Given the description of an element on the screen output the (x, y) to click on. 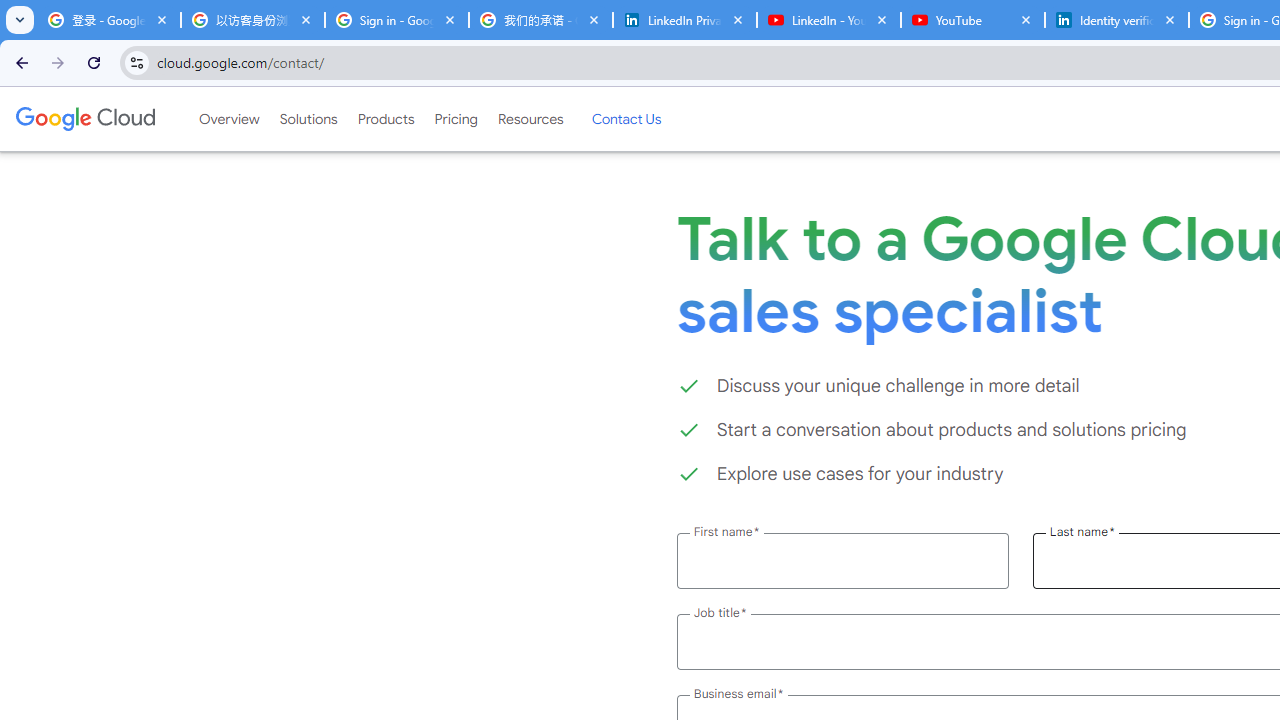
Sign in - Google Accounts (396, 20)
LinkedIn Privacy Policy (684, 20)
Resources (530, 119)
Google Cloud (84, 118)
